Given the description of an element on the screen output the (x, y) to click on. 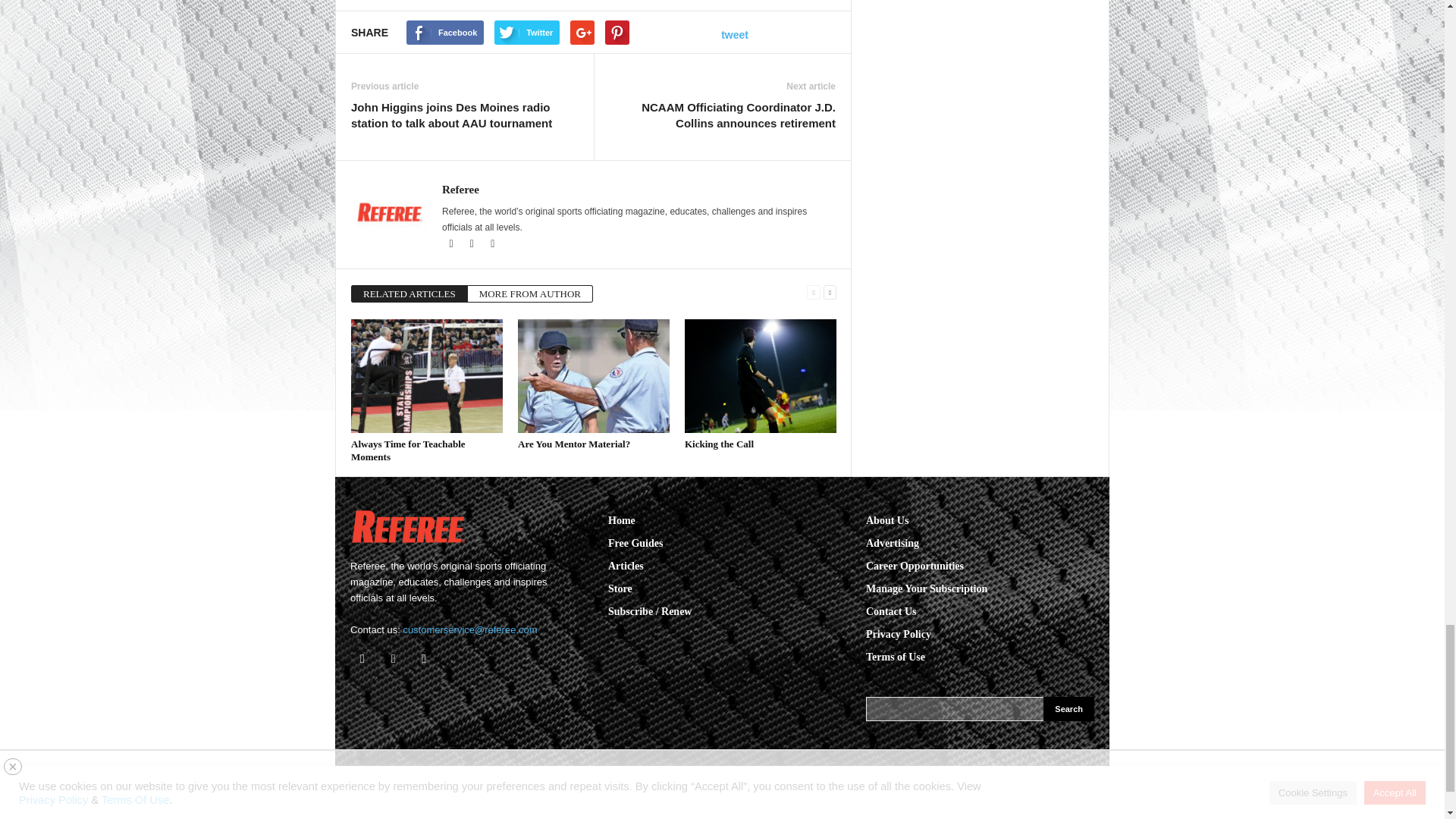
Search (1068, 708)
Always Time for Teachable Moments (426, 376)
Twitter (473, 244)
Facebook (452, 244)
Youtube (492, 244)
